Given the description of an element on the screen output the (x, y) to click on. 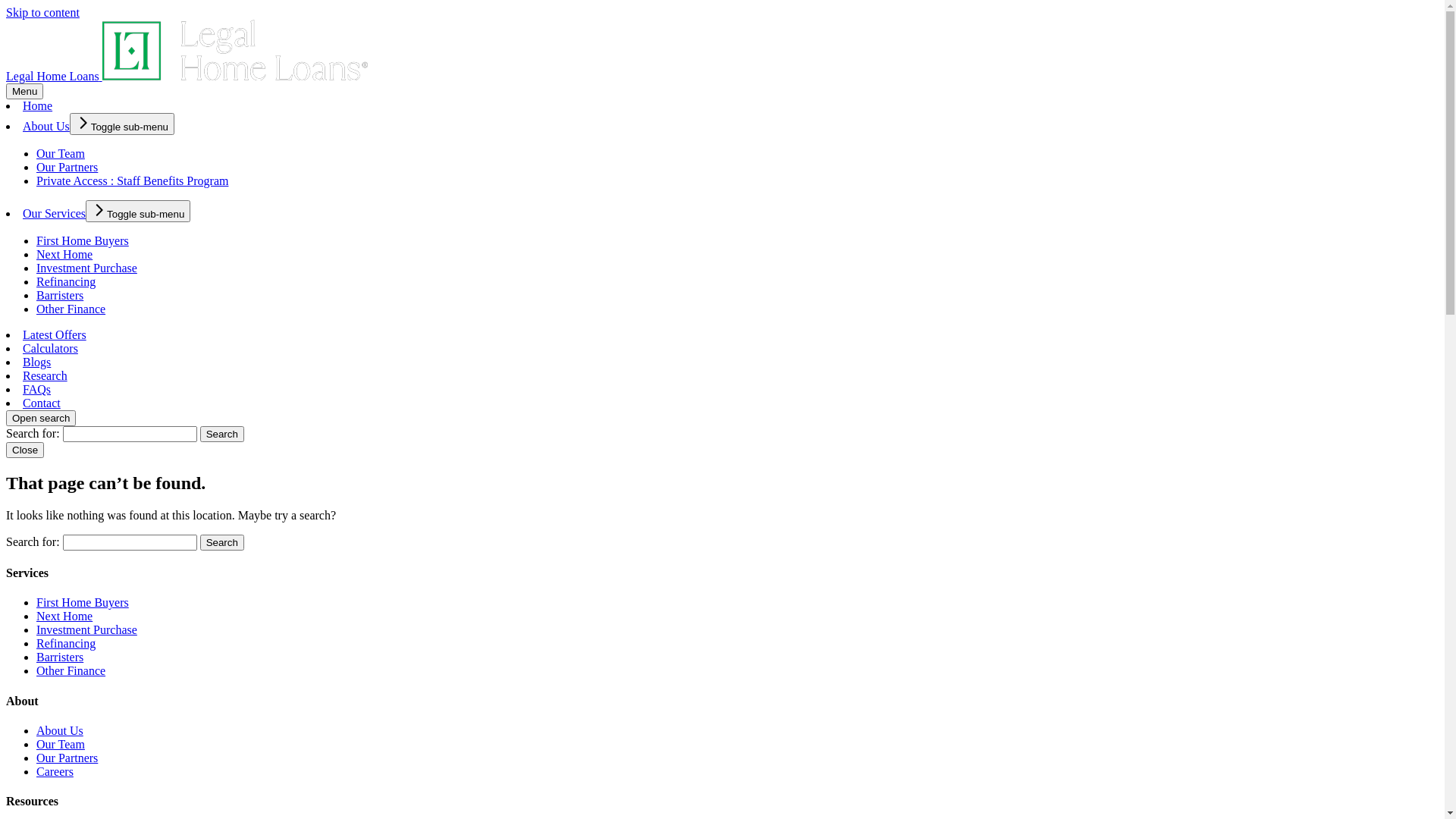
Other Finance Element type: text (70, 670)
About Us Element type: text (45, 125)
Latest Offers Element type: text (54, 334)
Other Finance Element type: text (70, 308)
Skip to content Element type: text (42, 12)
Our Partners Element type: text (66, 757)
Calculators Element type: text (50, 348)
First Home Buyers Element type: text (82, 240)
Investment Purchase Element type: text (86, 629)
Menu Element type: text (24, 91)
Our Partners Element type: text (66, 166)
Private Access : Staff Benefits Program Element type: text (132, 180)
Blogs Element type: text (36, 361)
Barristers Element type: text (59, 656)
Next Home Element type: text (64, 615)
First Home Buyers Element type: text (82, 602)
Toggle sub-menu Element type: text (137, 211)
Our Team Element type: text (60, 743)
Refinancing Element type: text (65, 643)
Search Element type: text (222, 542)
Home Element type: text (37, 105)
About Us Element type: text (59, 730)
Refinancing Element type: text (65, 281)
Contact Element type: text (41, 402)
Toggle sub-menu Element type: text (121, 123)
Investment Purchase Element type: text (86, 267)
Close Element type: text (24, 450)
Research Element type: text (44, 375)
Our Services Element type: text (53, 213)
Legal Home Loans Element type: text (54, 75)
Barristers Element type: text (59, 294)
Our Team Element type: text (60, 153)
FAQs Element type: text (36, 388)
Next Home Element type: text (64, 253)
Search Element type: text (222, 434)
Careers Element type: text (54, 771)
Open search Element type: text (40, 418)
